Given the description of an element on the screen output the (x, y) to click on. 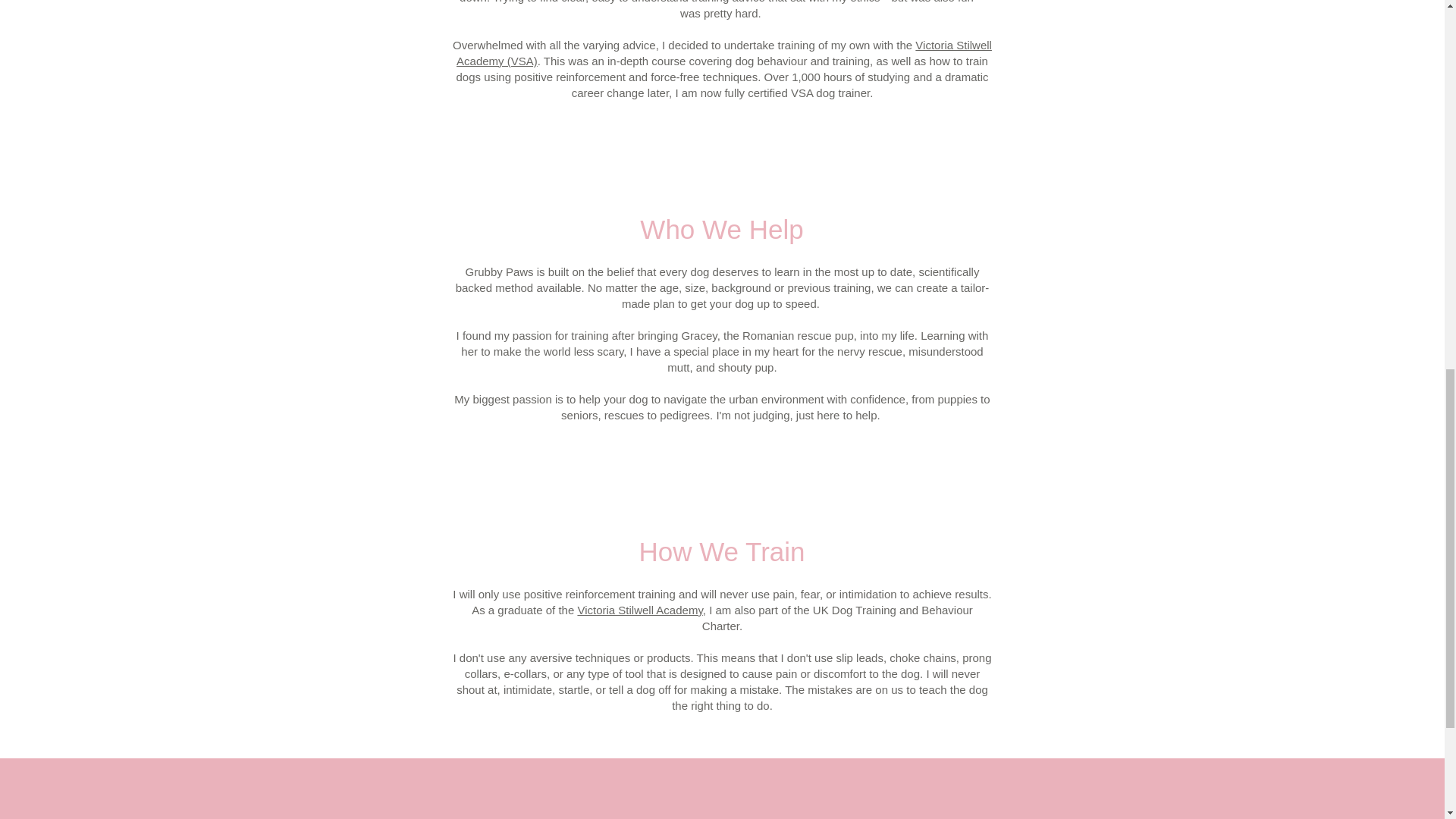
Victoria Stilwell Academy (638, 609)
